Given the description of an element on the screen output the (x, y) to click on. 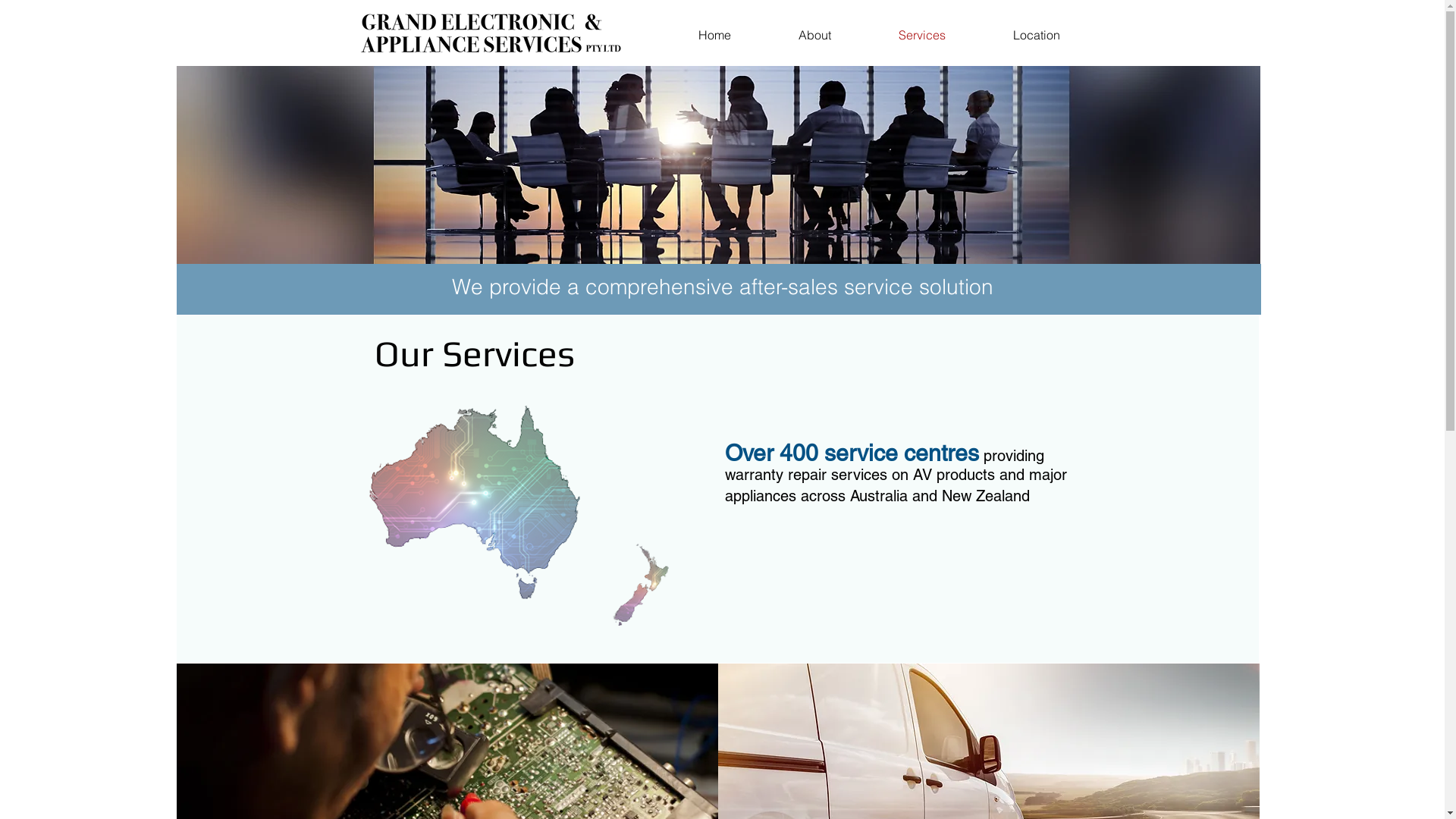
Services Element type: text (921, 34)
About Element type: text (814, 34)
Home Element type: text (714, 34)
Location Element type: text (1036, 34)
